Given the description of an element on the screen output the (x, y) to click on. 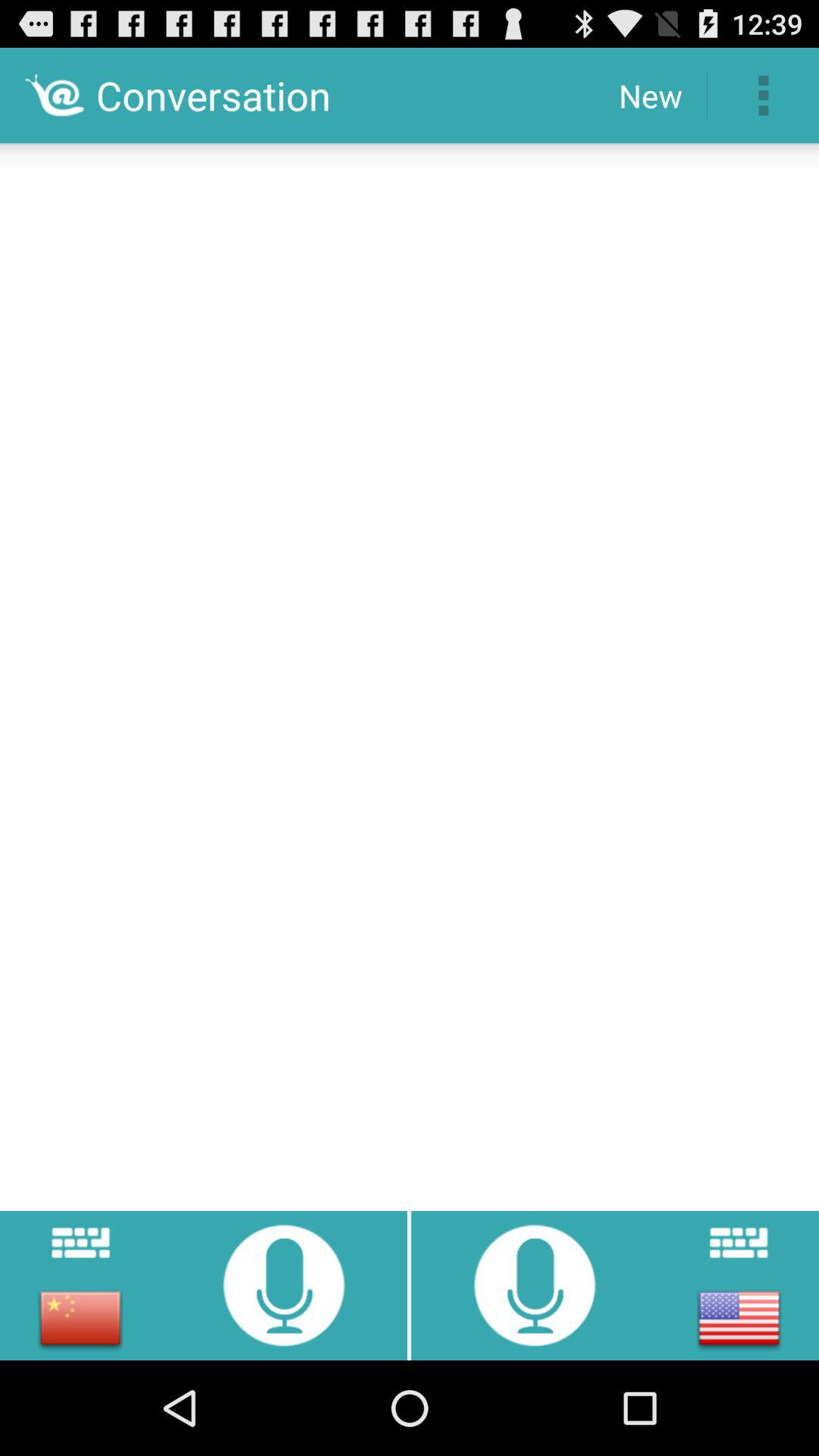
open the item to the right of the conversation icon (650, 95)
